Given the description of an element on the screen output the (x, y) to click on. 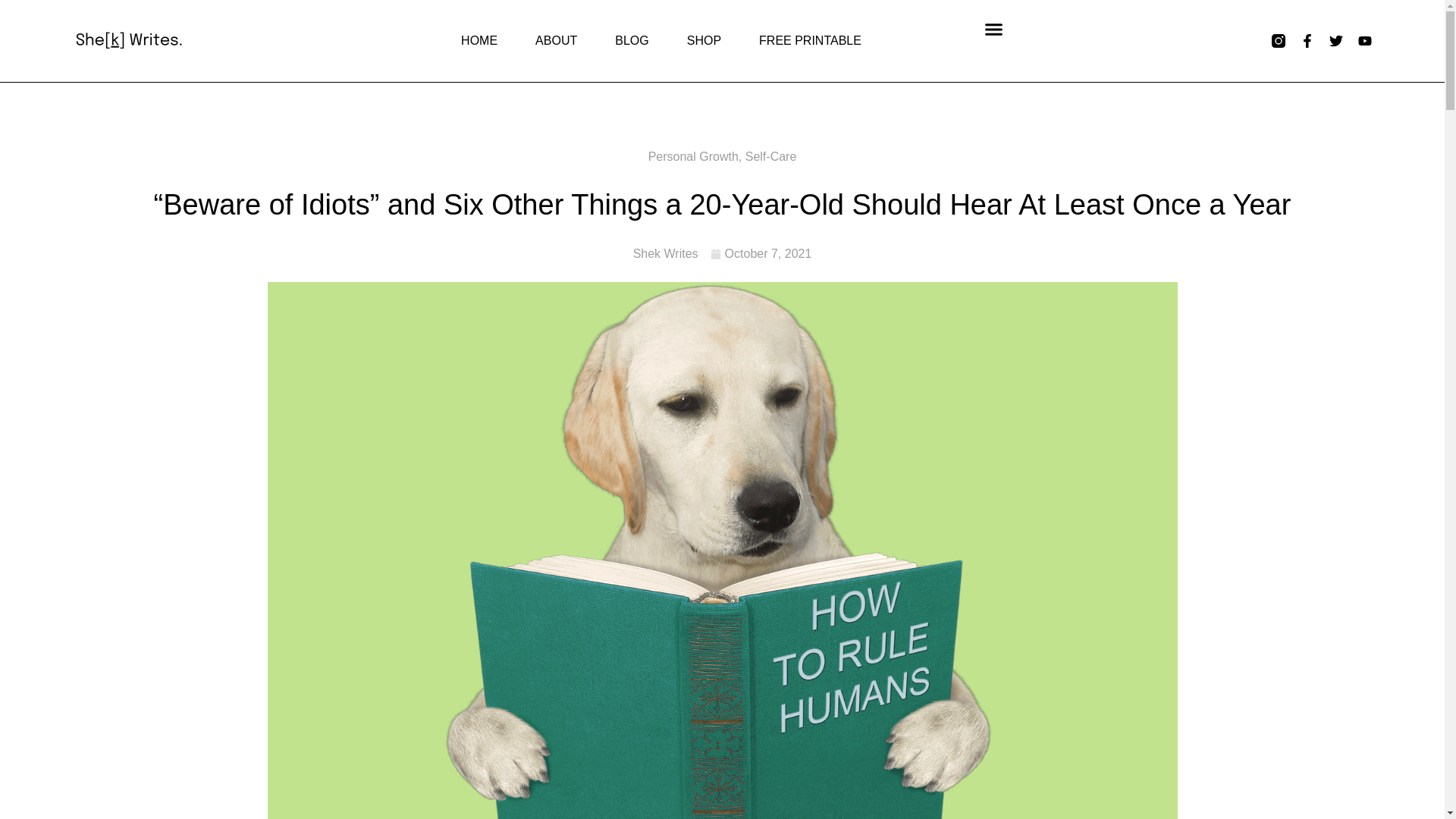
Youtube (1364, 40)
SHOP (703, 40)
FREE PRINTABLE (809, 40)
October 7, 2021 (761, 253)
Twitter (1335, 40)
Shek Writes (665, 253)
Facebook-f (1307, 40)
BLOG (630, 40)
Personal Growth (692, 155)
ABOUT (555, 40)
